Given the description of an element on the screen output the (x, y) to click on. 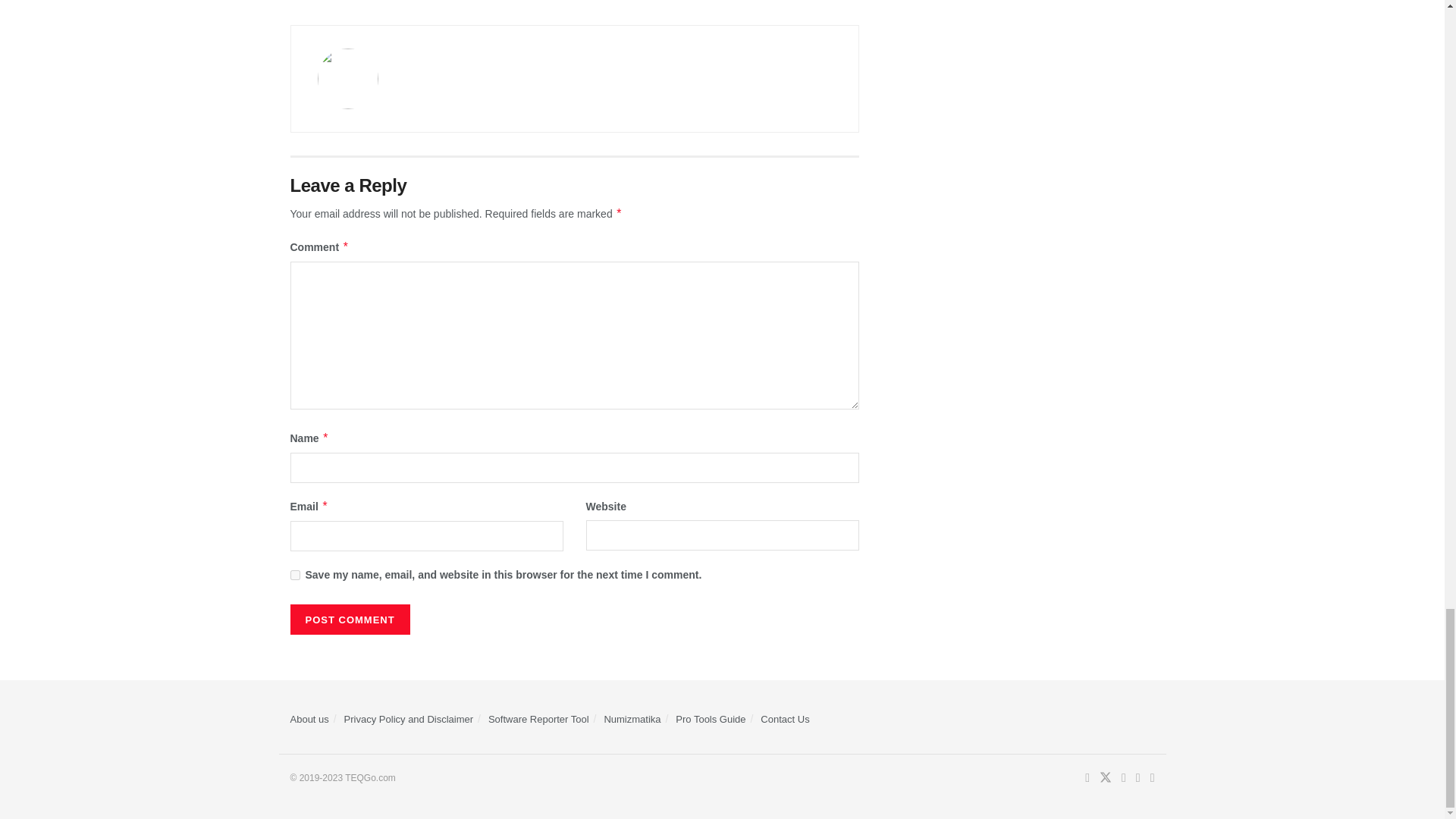
Post Comment (349, 619)
yes (294, 574)
